Given the description of an element on the screen output the (x, y) to click on. 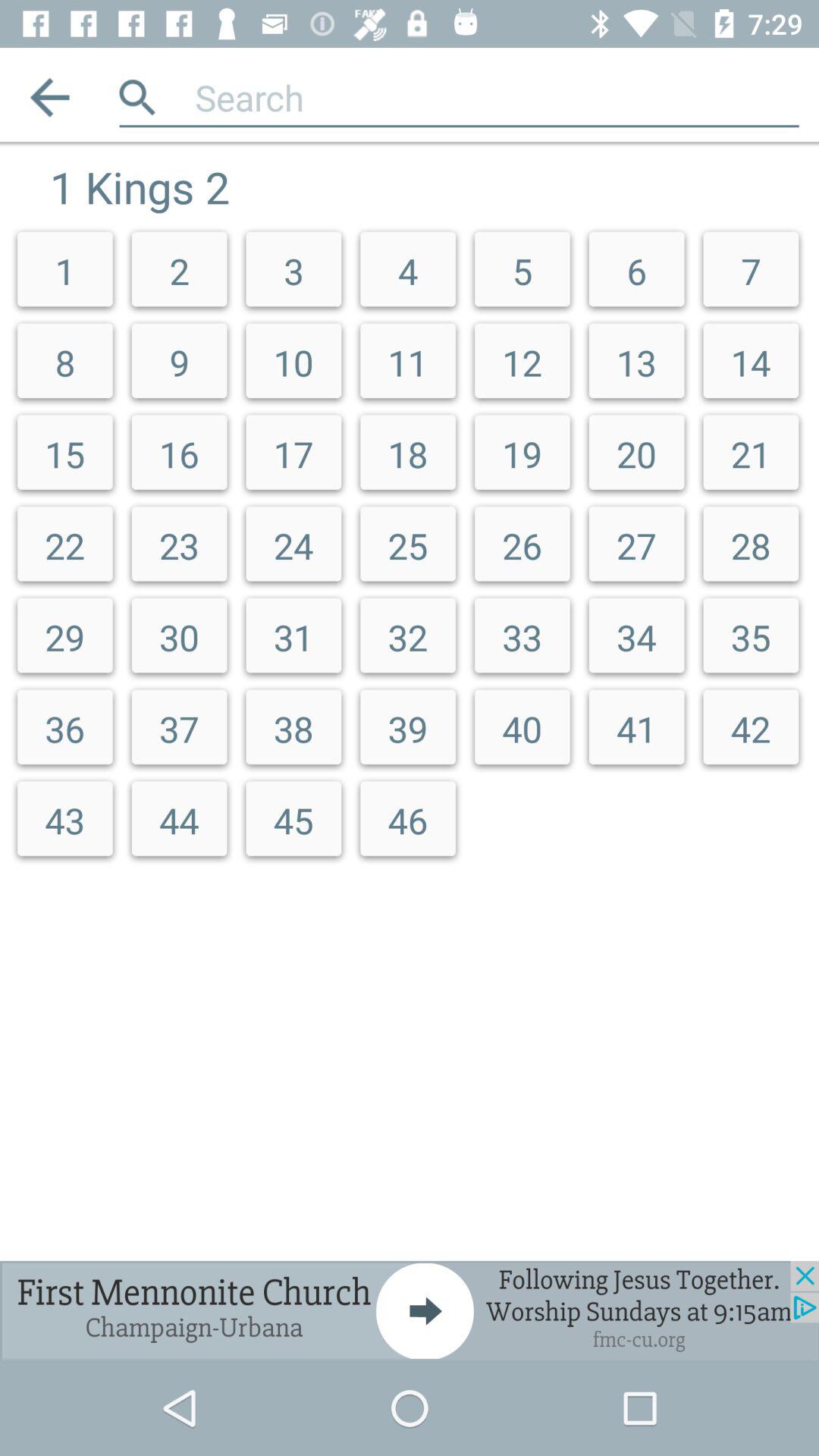
input search query (497, 97)
